Given the description of an element on the screen output the (x, y) to click on. 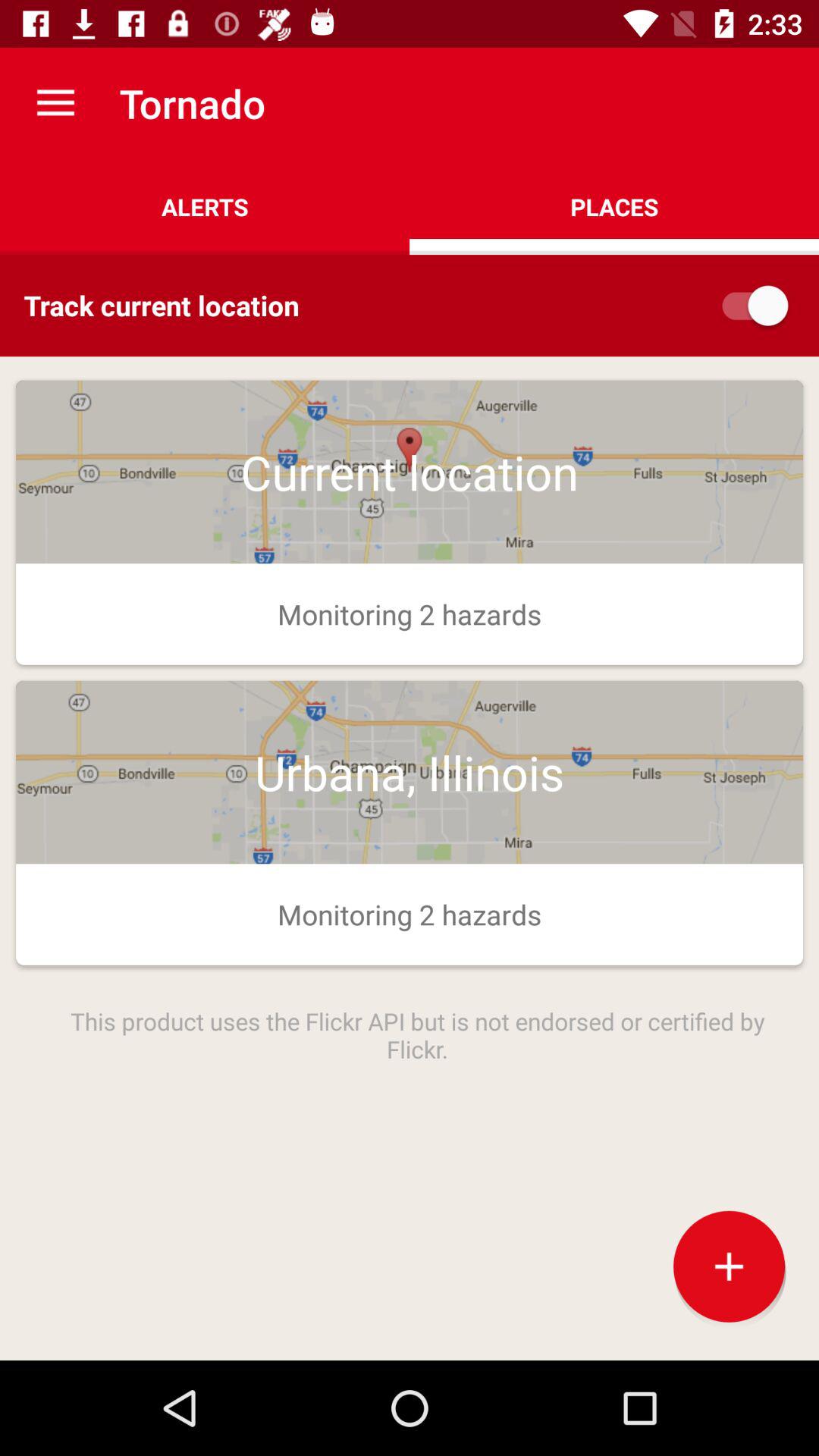
scroll until the alerts icon (204, 206)
